Given the description of an element on the screen output the (x, y) to click on. 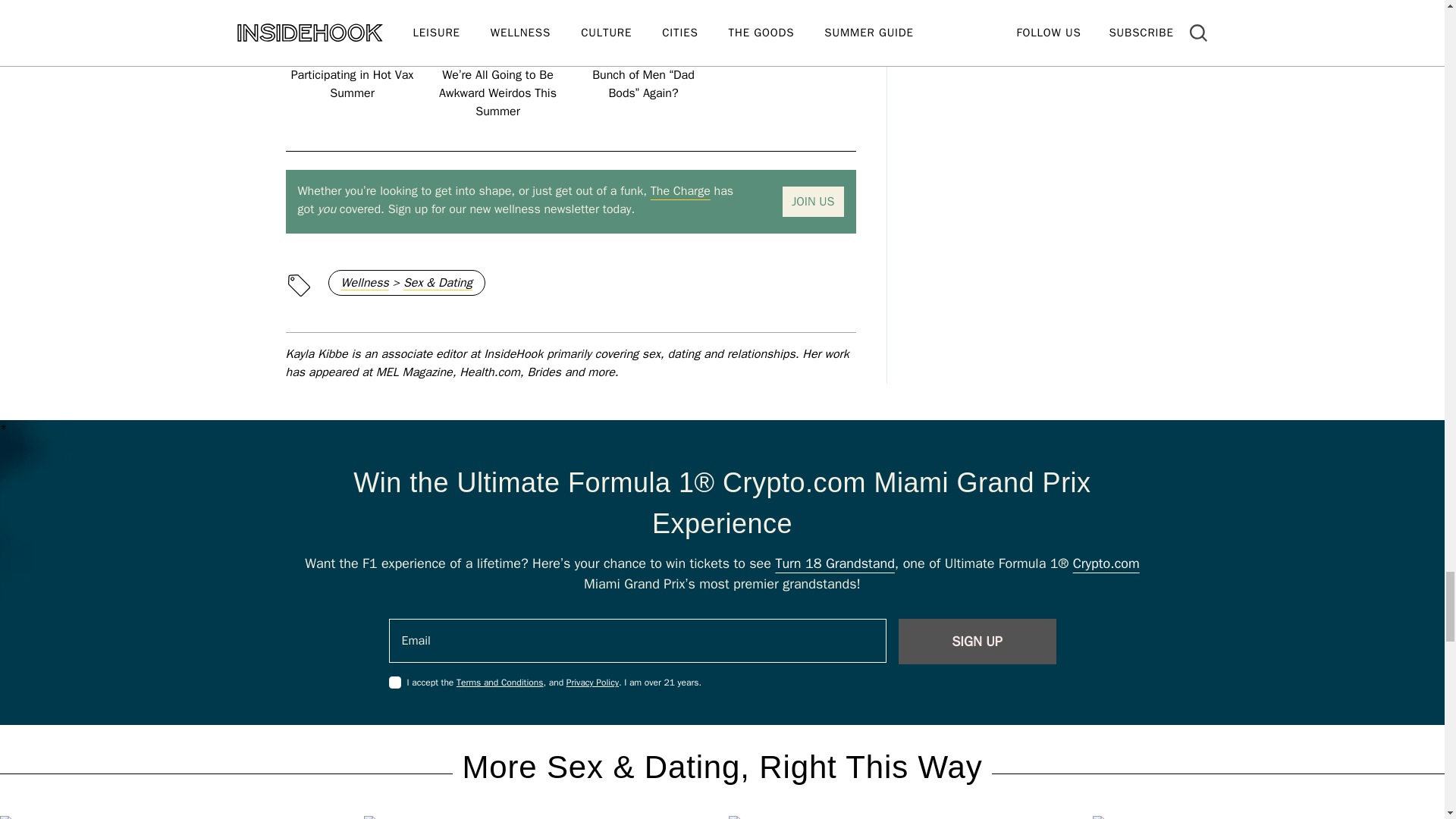
on (394, 682)
